Given the description of an element on the screen output the (x, y) to click on. 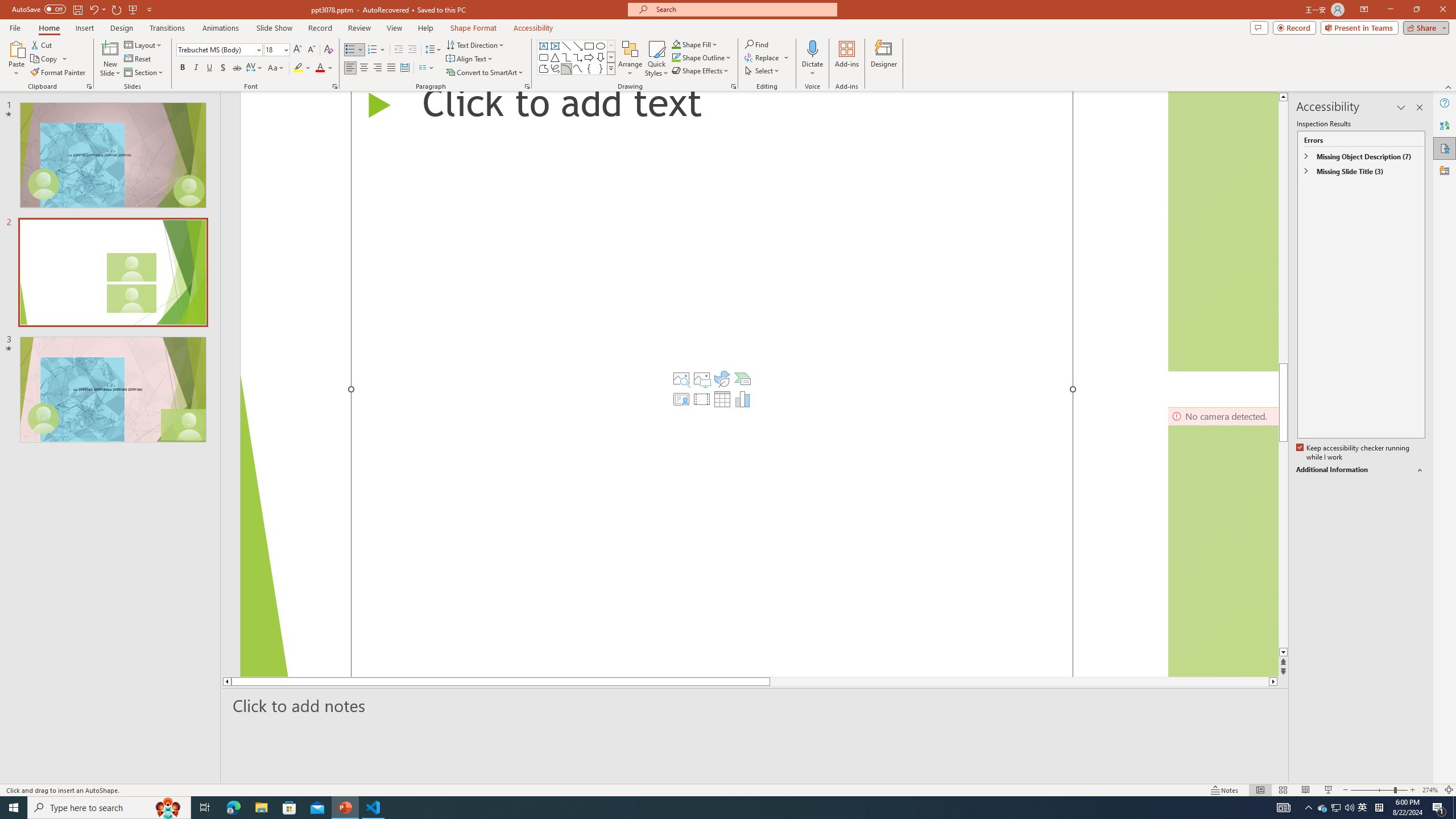
Content Placeholder (711, 383)
